Given the description of an element on the screen output the (x, y) to click on. 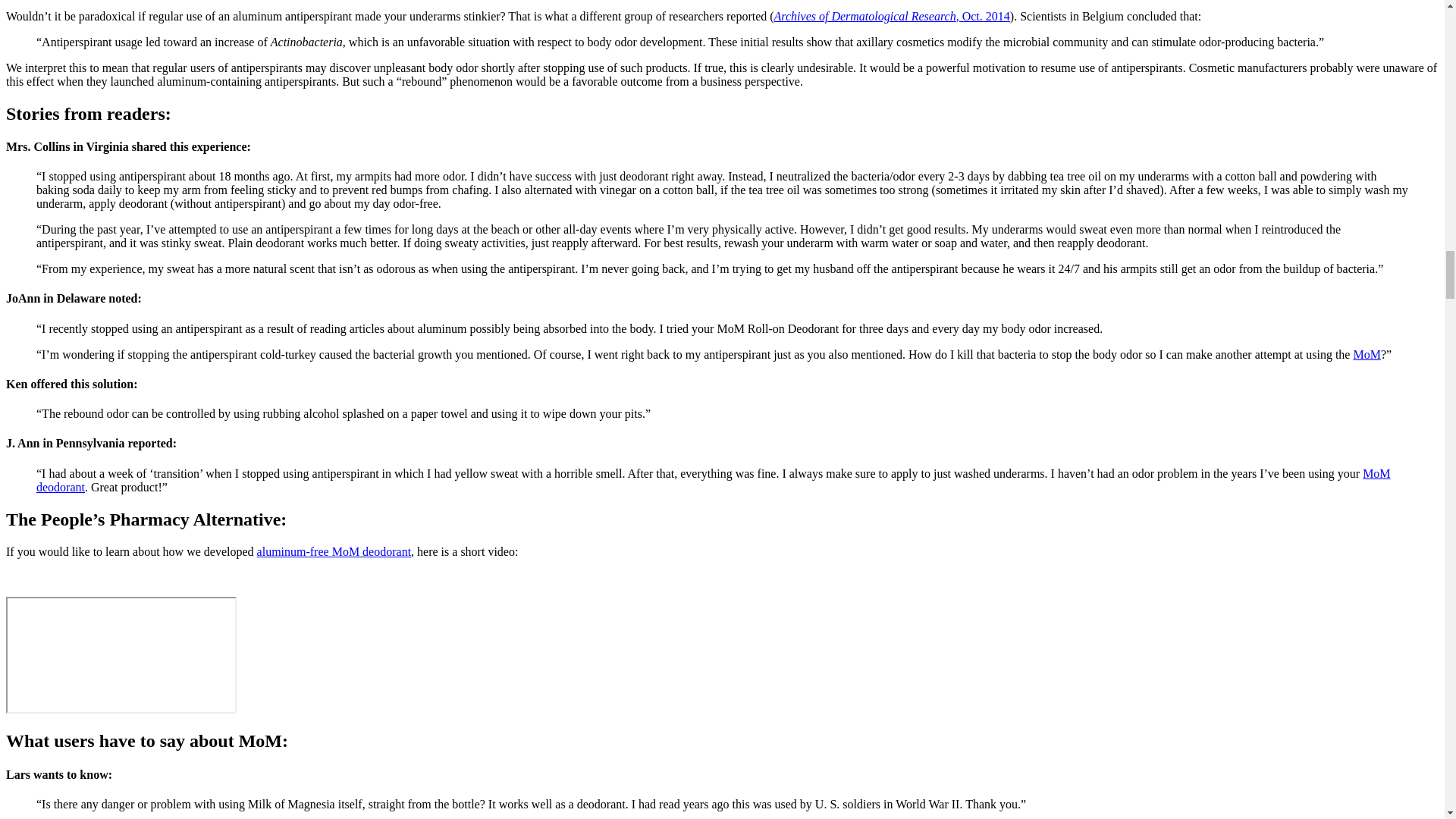
MoM deodorant (713, 479)
Archives of Dermatological Research, Oct. 2014 (892, 15)
aluminum-free MoM deodorant (334, 550)
MoM (1366, 354)
